Given the description of an element on the screen output the (x, y) to click on. 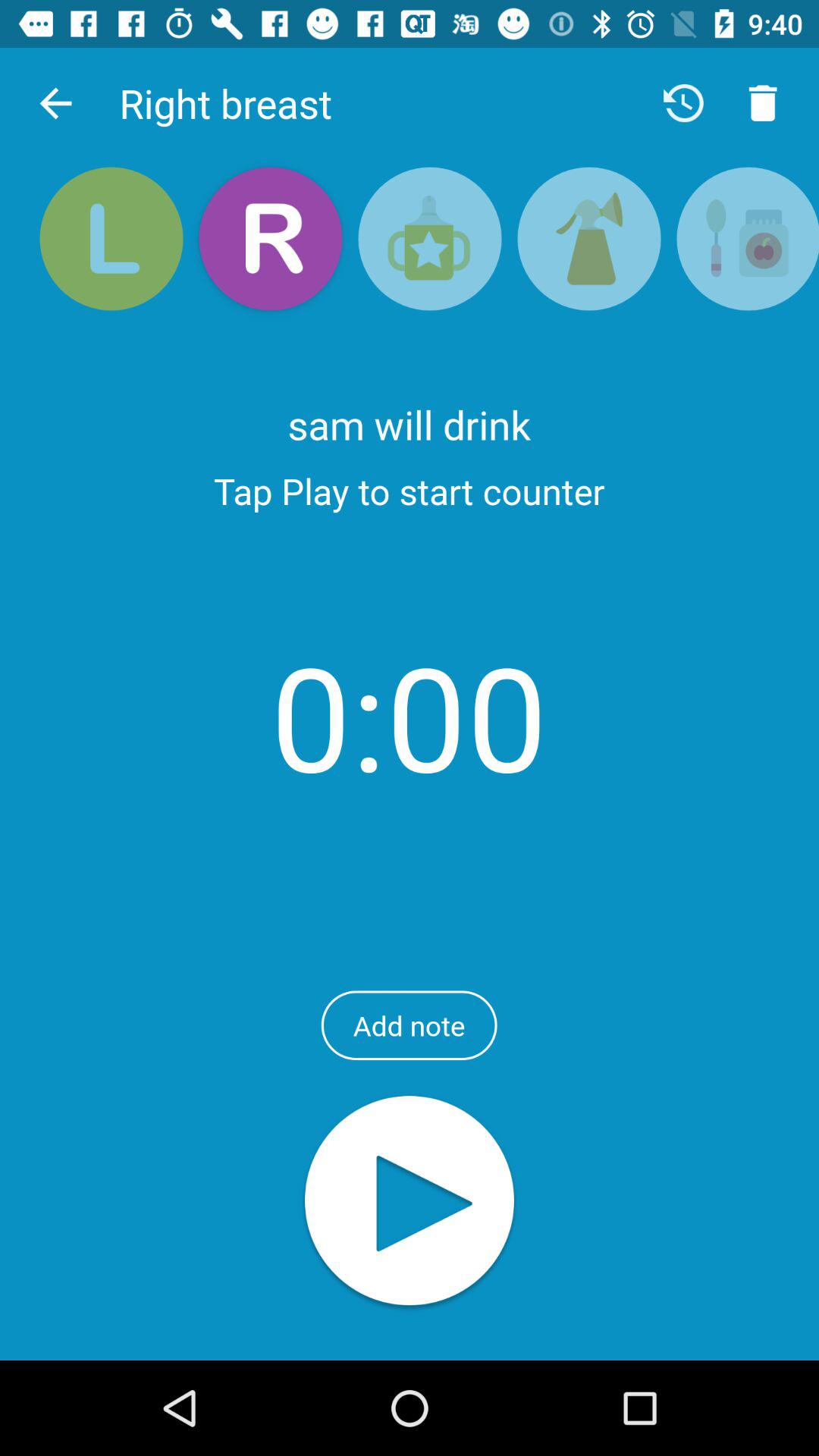
scroll to the add note item (409, 1025)
